Given the description of an element on the screen output the (x, y) to click on. 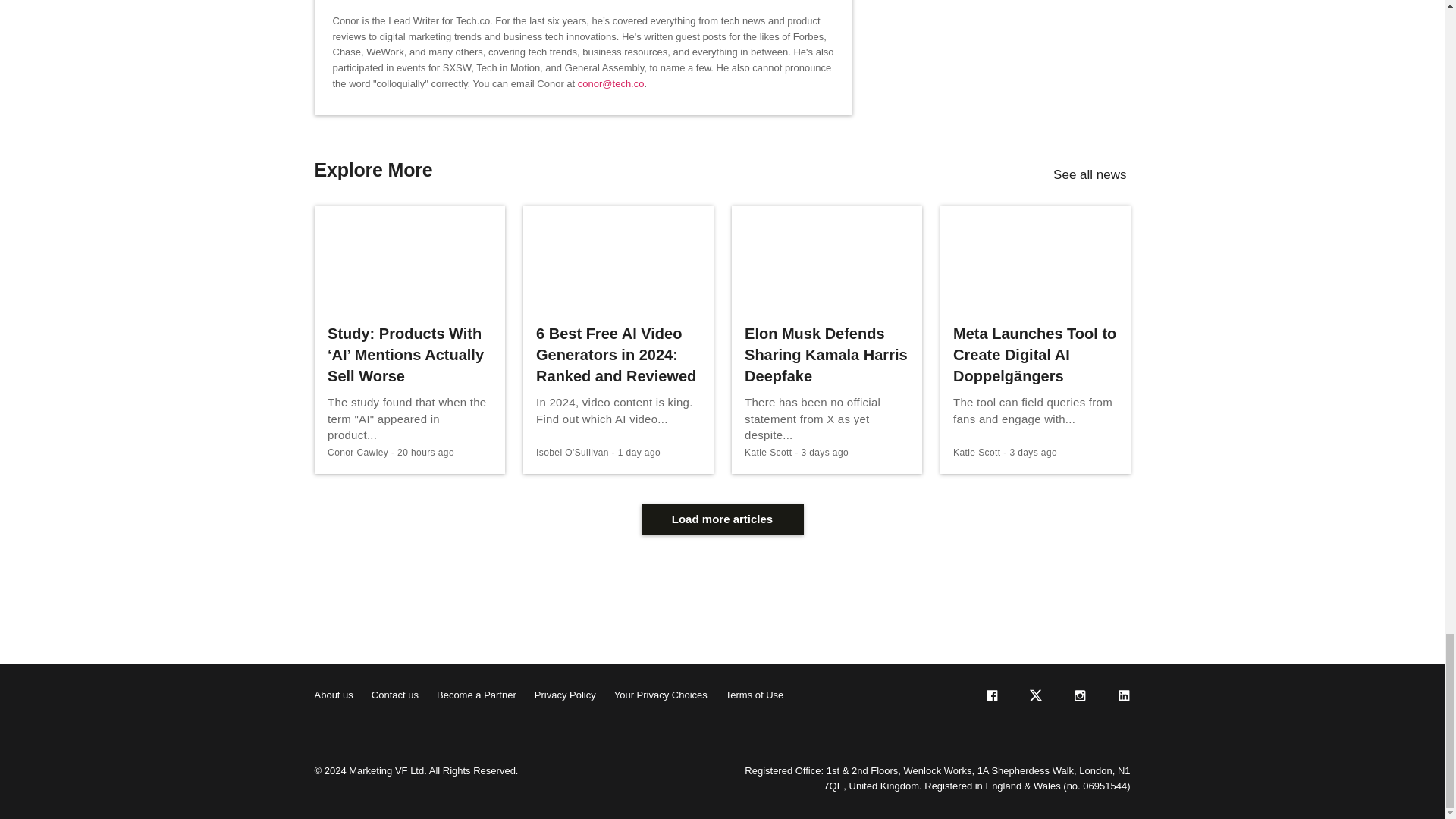
twitter-x (1034, 698)
facebook (990, 698)
instagram (1078, 698)
linkedin (1122, 698)
